Given the description of an element on the screen output the (x, y) to click on. 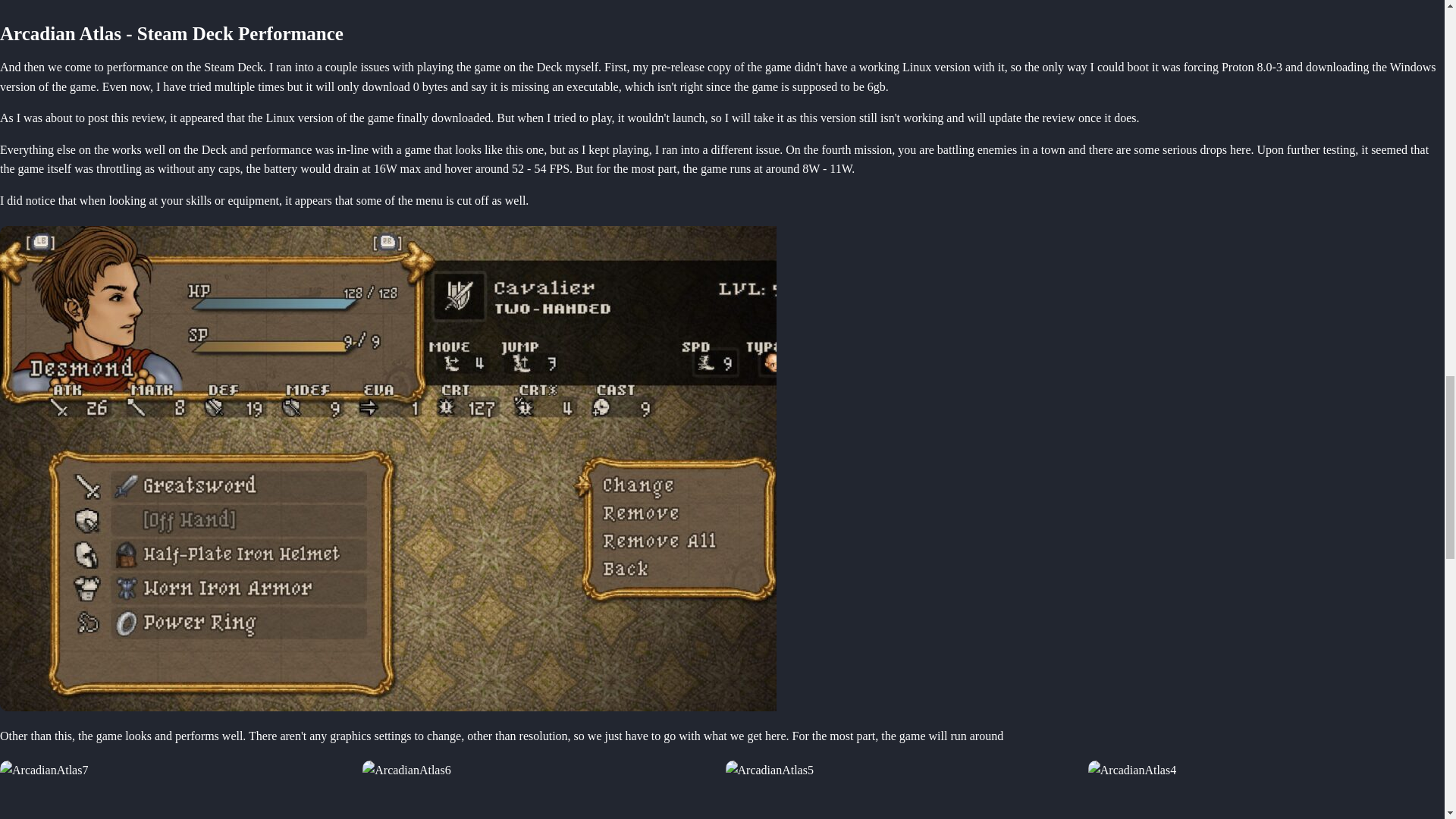
Arcadian Atlas 6 (903, 789)
Arcadian Atlas 4 (178, 789)
Arcadian Atlas 5 (540, 789)
